Given the description of an element on the screen output the (x, y) to click on. 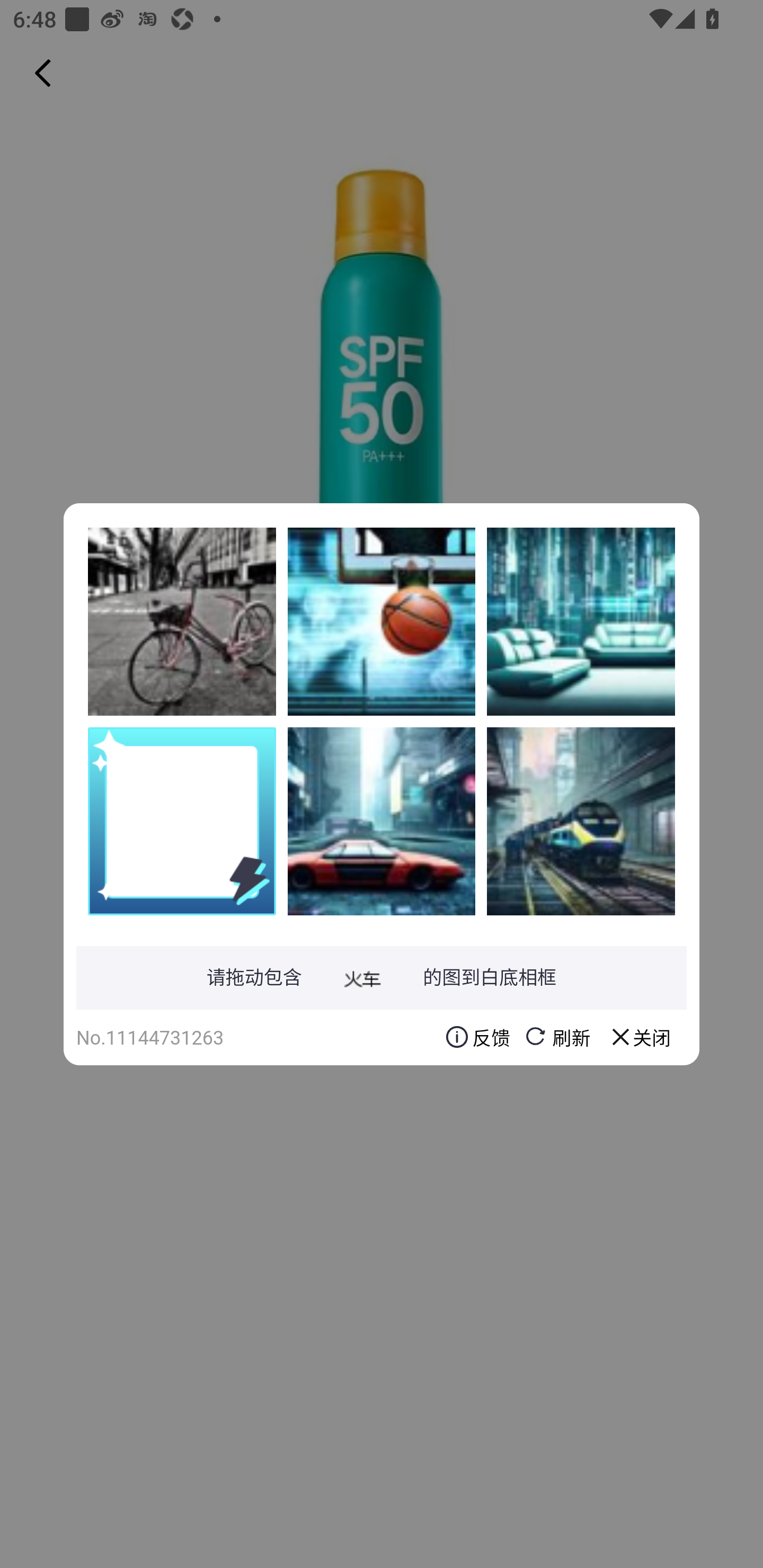
Pn2lj4LH9+H6m7FxwjgZNHiATBk7Rr (181, 621)
+02KBIbFv2GLJK8qiWqq5ZXoLVmNocTRaYWVjAqcJ (580, 621)
j (381, 820)
